Given the description of an element on the screen output the (x, y) to click on. 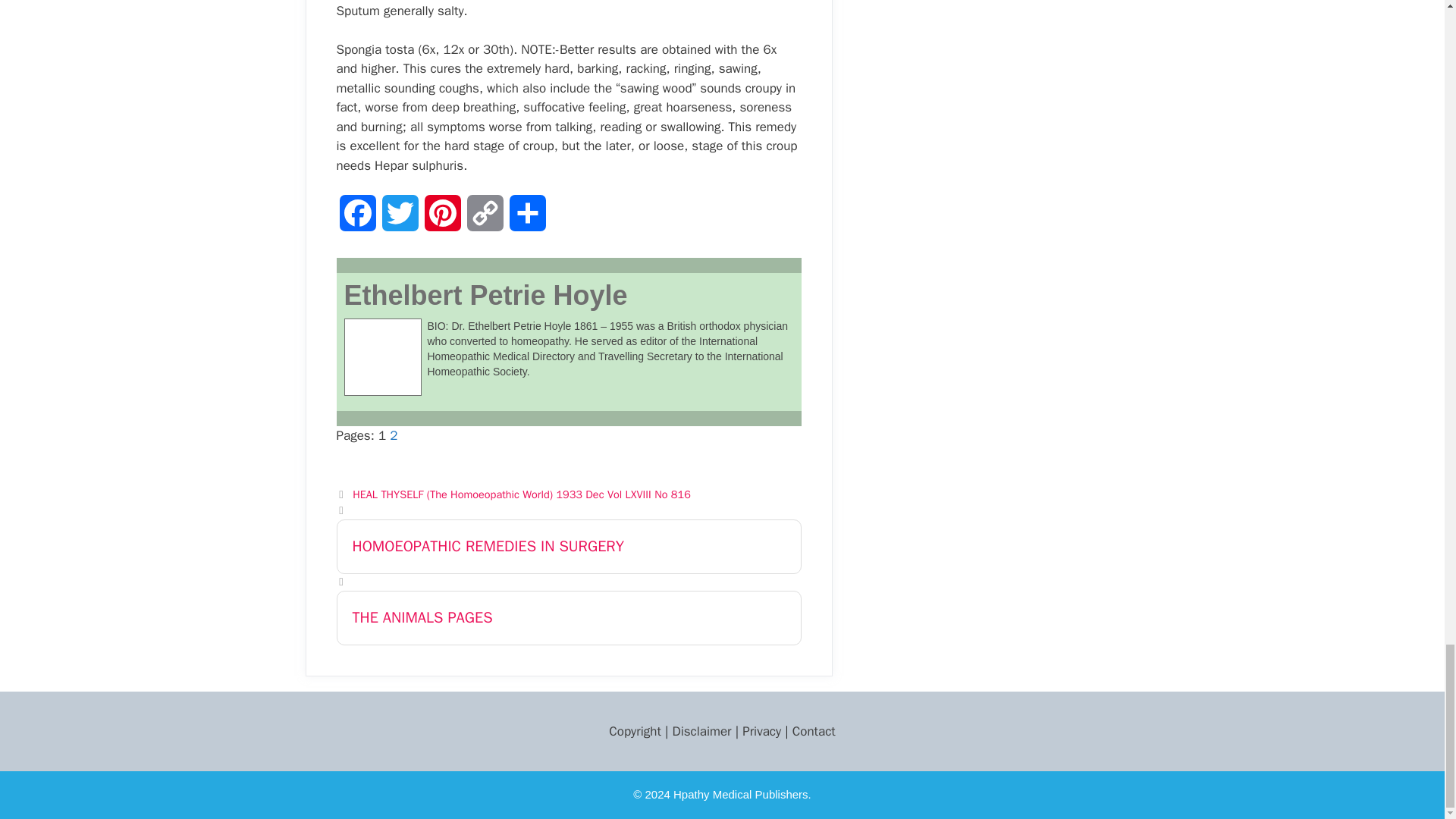
Privacy (761, 731)
THE ANIMALS PAGES (569, 617)
HOMOEOPATHIC REMEDIES IN SURGERY (569, 546)
Ethelbert Petrie Hoyle (485, 295)
Copyright (634, 731)
Disclaimer (700, 731)
Ethelbert Petrie Hoyle (485, 295)
Contact (813, 731)
